Given the description of an element on the screen output the (x, y) to click on. 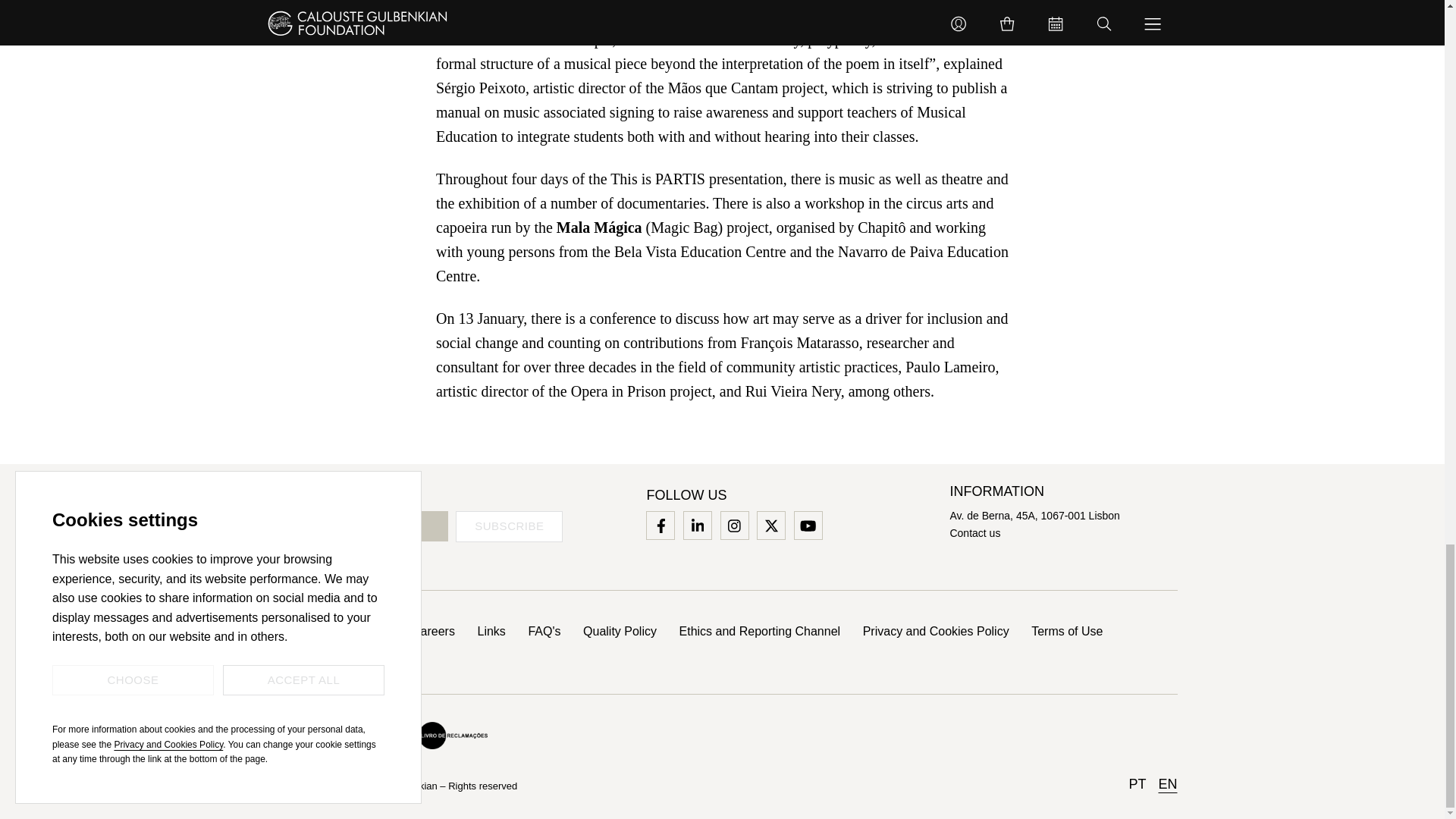
Youtube (808, 524)
Creative Commons (307, 734)
Instagram (734, 524)
Facebook (660, 524)
LinkedIn (697, 524)
Twitter (770, 524)
Google Maps (1034, 515)
